Given the description of an element on the screen output the (x, y) to click on. 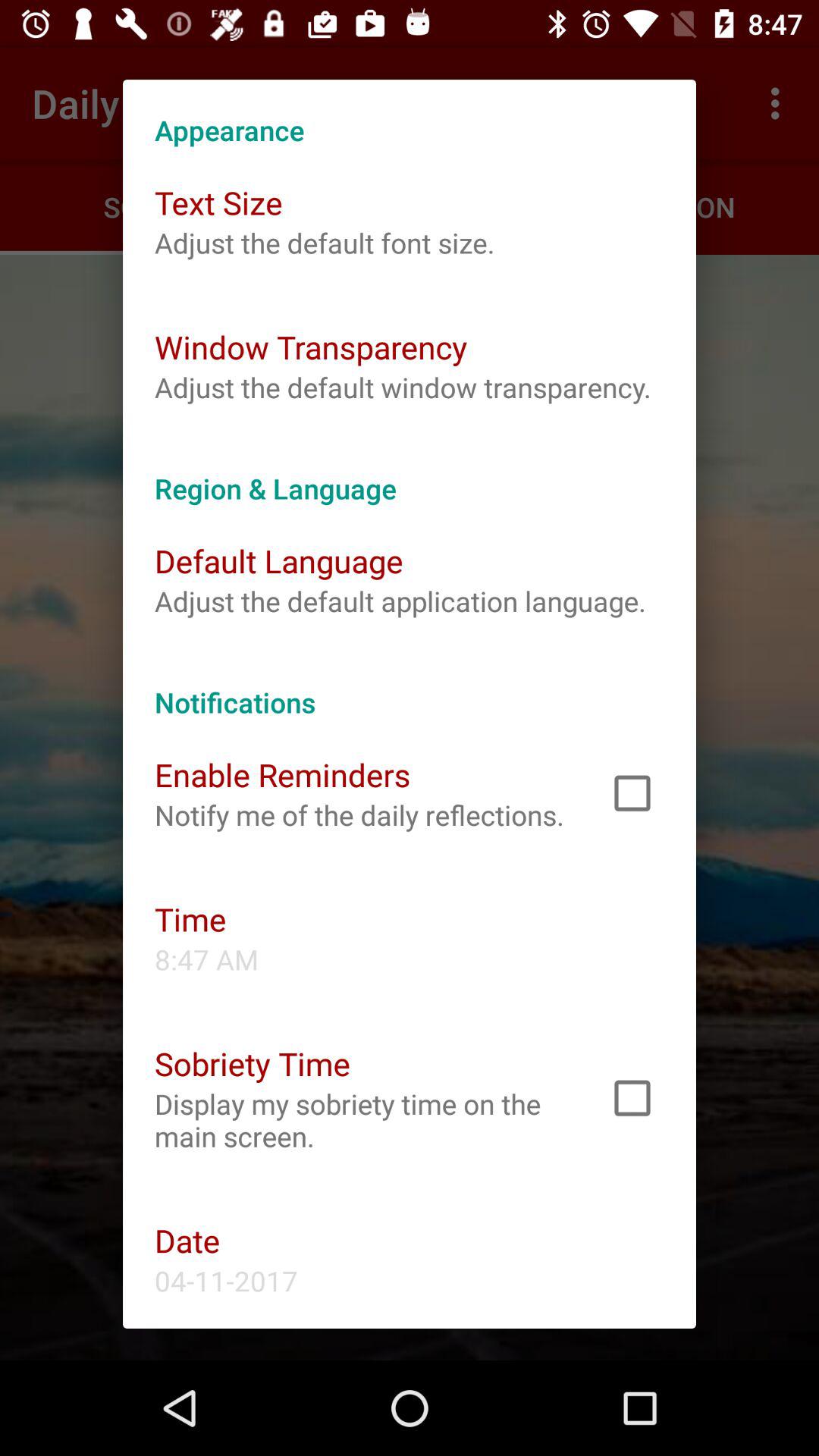
scroll until 04-11-2017 (226, 1280)
